Given the description of an element on the screen output the (x, y) to click on. 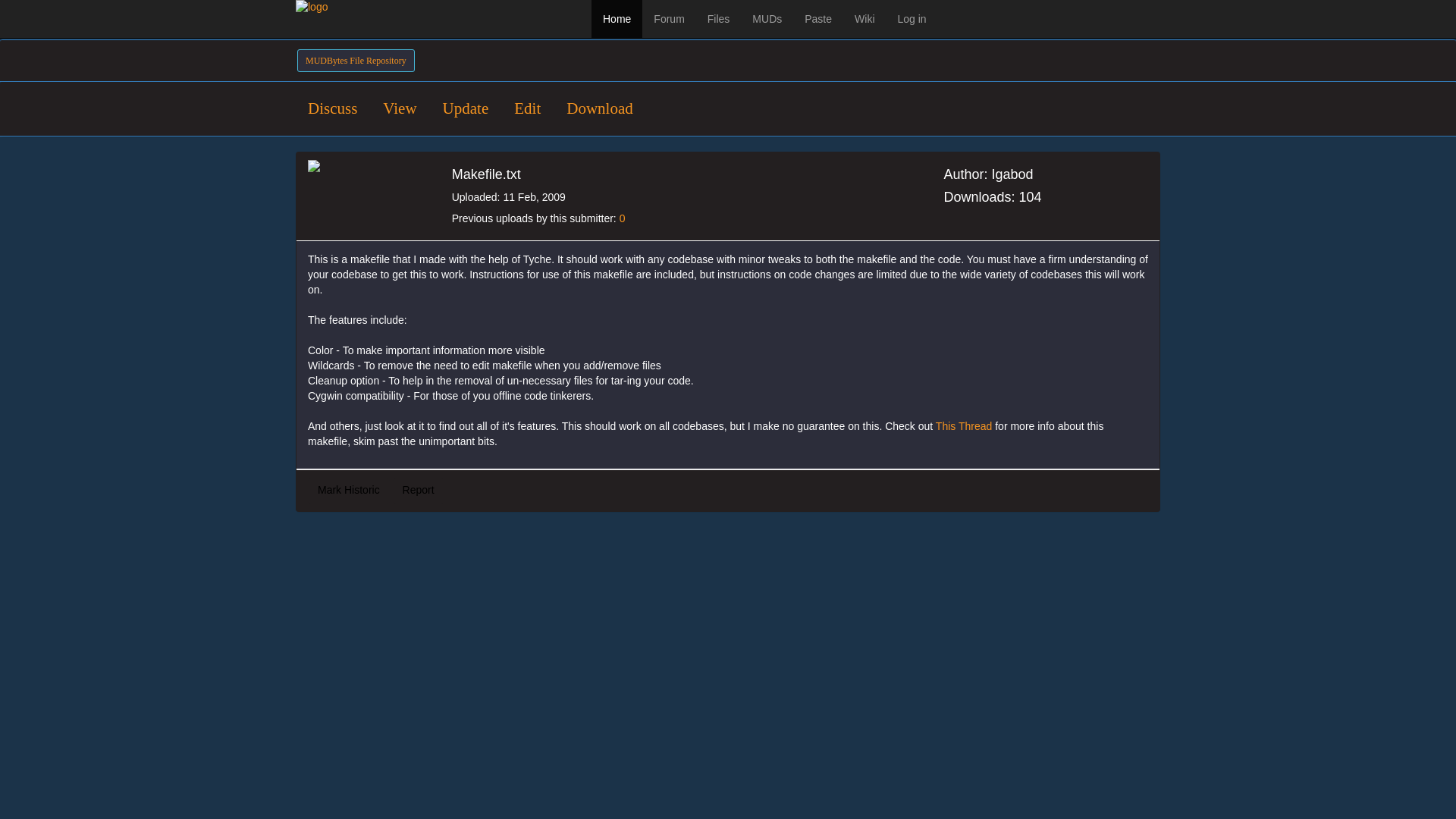
This Thread (963, 426)
Paste (818, 18)
Forum (668, 18)
Download (599, 108)
MUDBytes File Repository (355, 60)
Log in (911, 18)
Discuss (332, 108)
Mark Historic (348, 490)
View (399, 108)
Files (718, 18)
